Given the description of an element on the screen output the (x, y) to click on. 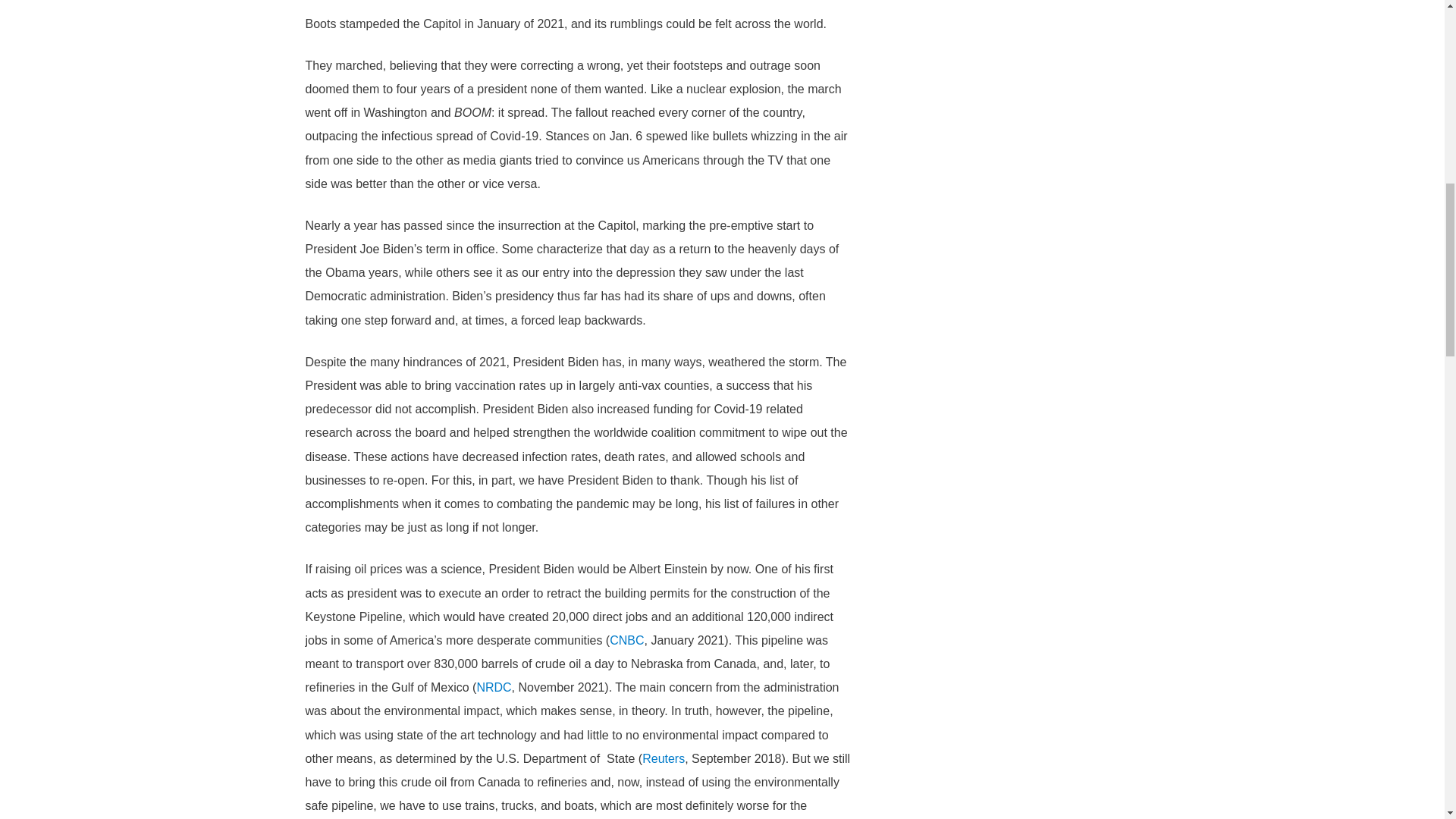
NRDC (493, 686)
Reuters (663, 758)
CNBC (626, 640)
